Given the description of an element on the screen output the (x, y) to click on. 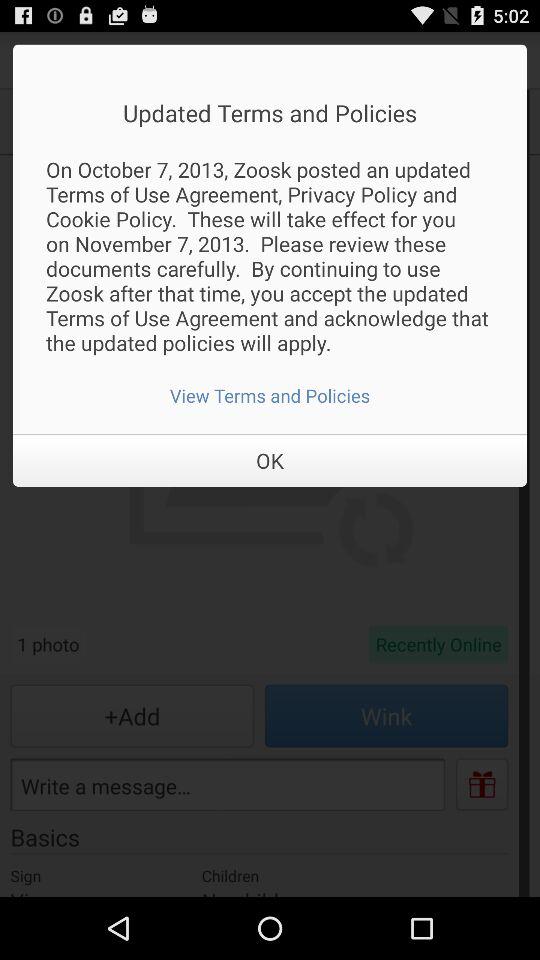
flip to the ok (269, 460)
